Given the description of an element on the screen output the (x, y) to click on. 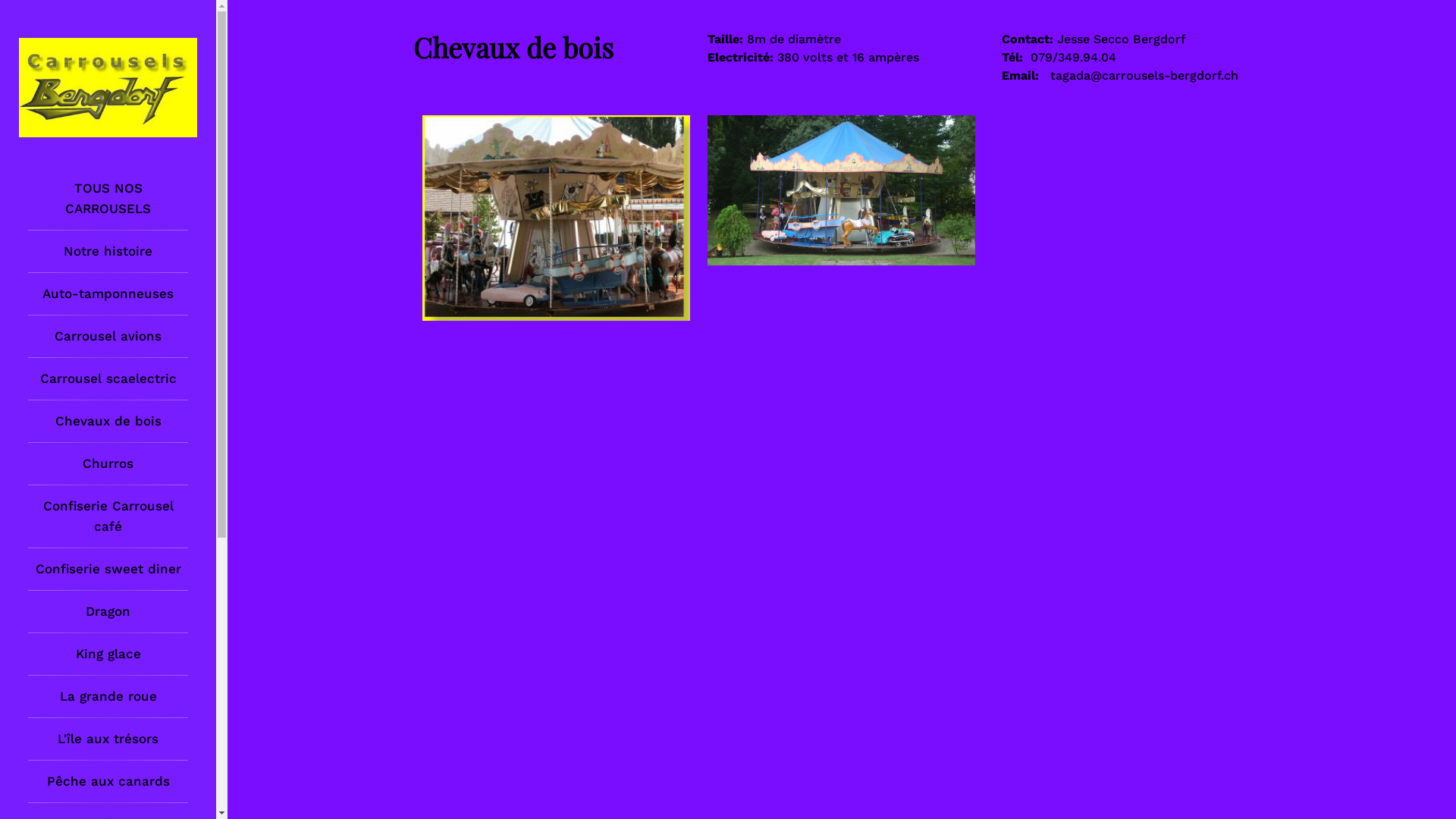
Confiserie sweet diner Element type: text (107, 568)
Dragon Element type: text (107, 611)
Chevaux de bois Element type: text (107, 421)
Notre histoire Element type: text (107, 251)
Auto-tamponneuses Element type: text (107, 293)
logo Element type: hover (107, 87)
Carrousel avions Element type: text (107, 336)
Carrousel scaelectric Element type: text (107, 378)
Churros Element type: text (107, 463)
King glace Element type: text (107, 653)
La grande roue Element type: text (107, 696)
TOUS NOS CARROUSELS Element type: text (107, 198)
tagada@carrousels-bergdorf.ch Element type: text (1144, 75)
